Given the description of an element on the screen output the (x, y) to click on. 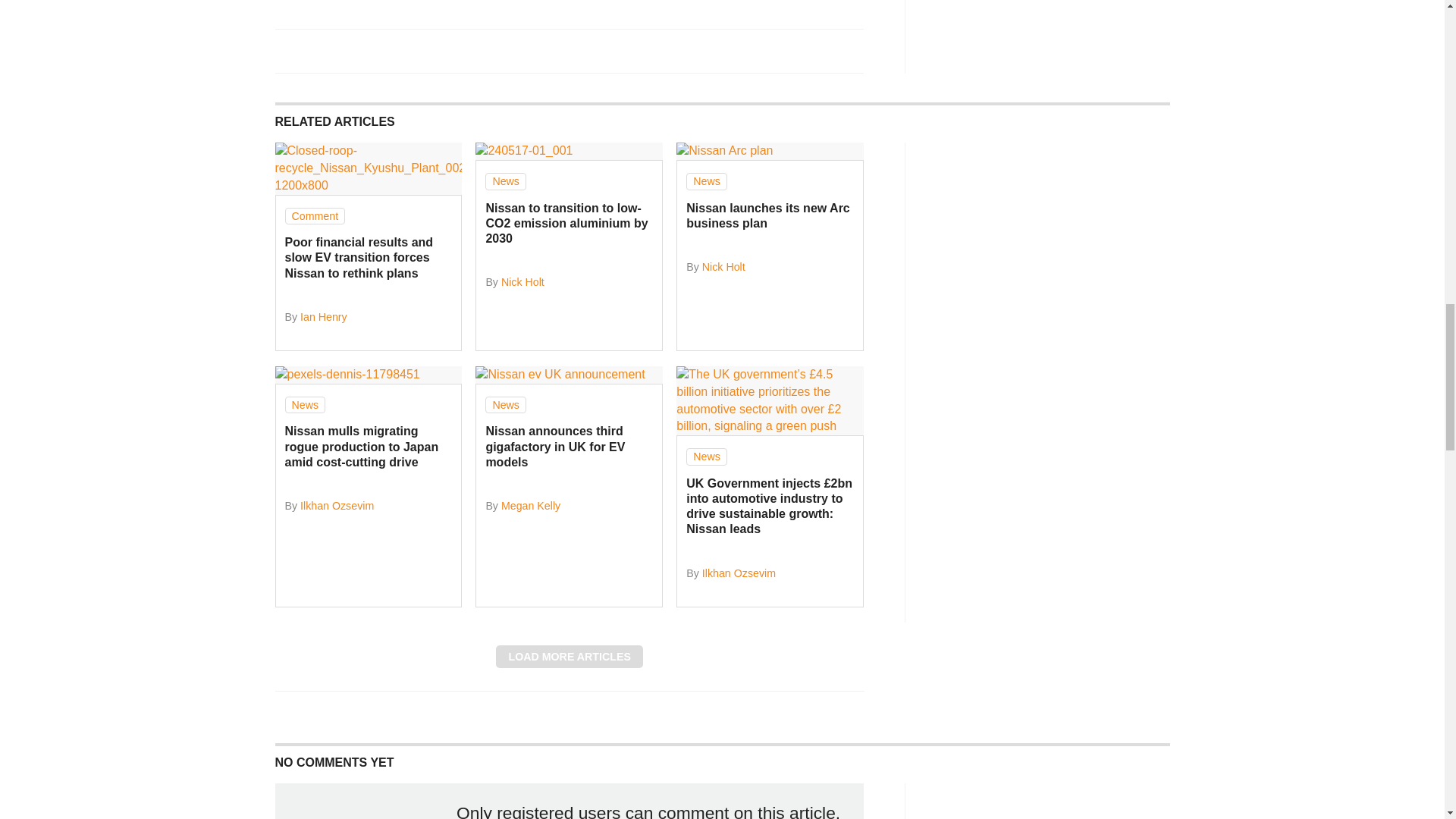
No comments (840, 59)
Email this article (386, 50)
Share this on Twitter (320, 50)
Share this on Facebook (288, 50)
Share this on Linked in (352, 50)
